Given the description of an element on the screen output the (x, y) to click on. 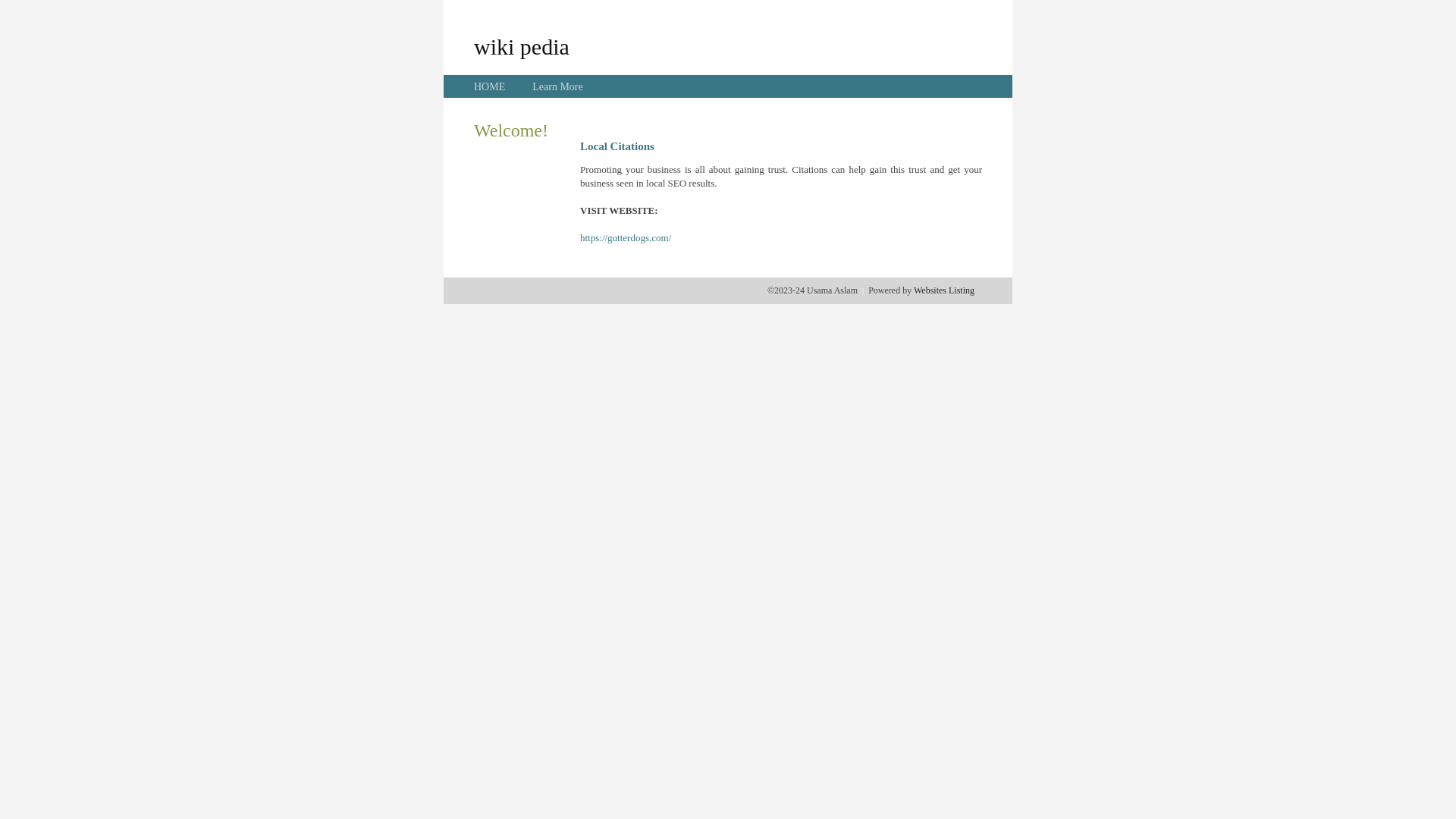
Websites Listing Element type: text (943, 290)
https://gutterdogs.com/ Element type: text (625, 237)
wiki pedia Element type: text (521, 46)
Learn More Element type: text (557, 86)
HOME Element type: text (489, 86)
